Given the description of an element on the screen output the (x, y) to click on. 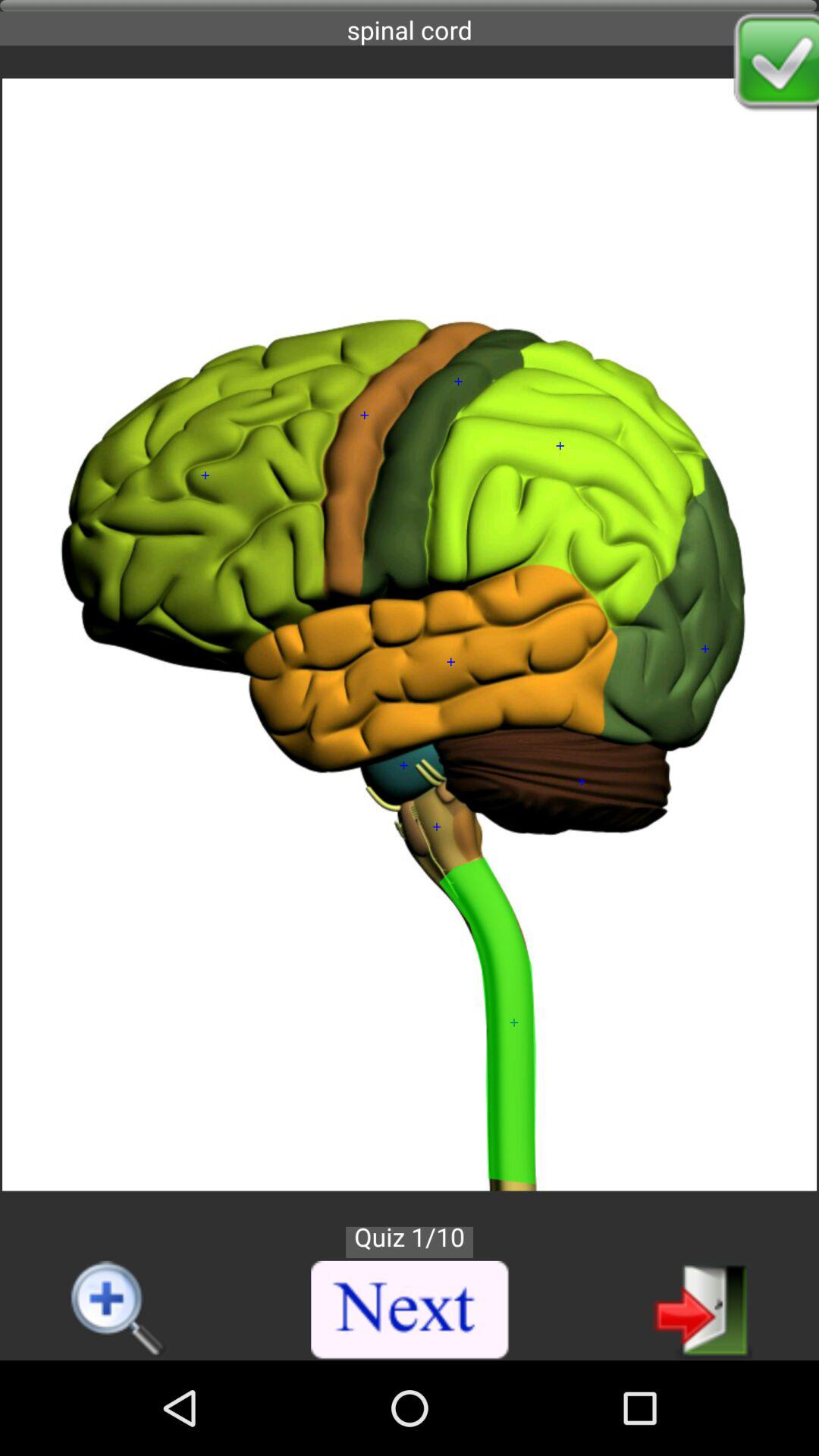
increase magnifier (118, 1310)
